Given the description of an element on the screen output the (x, y) to click on. 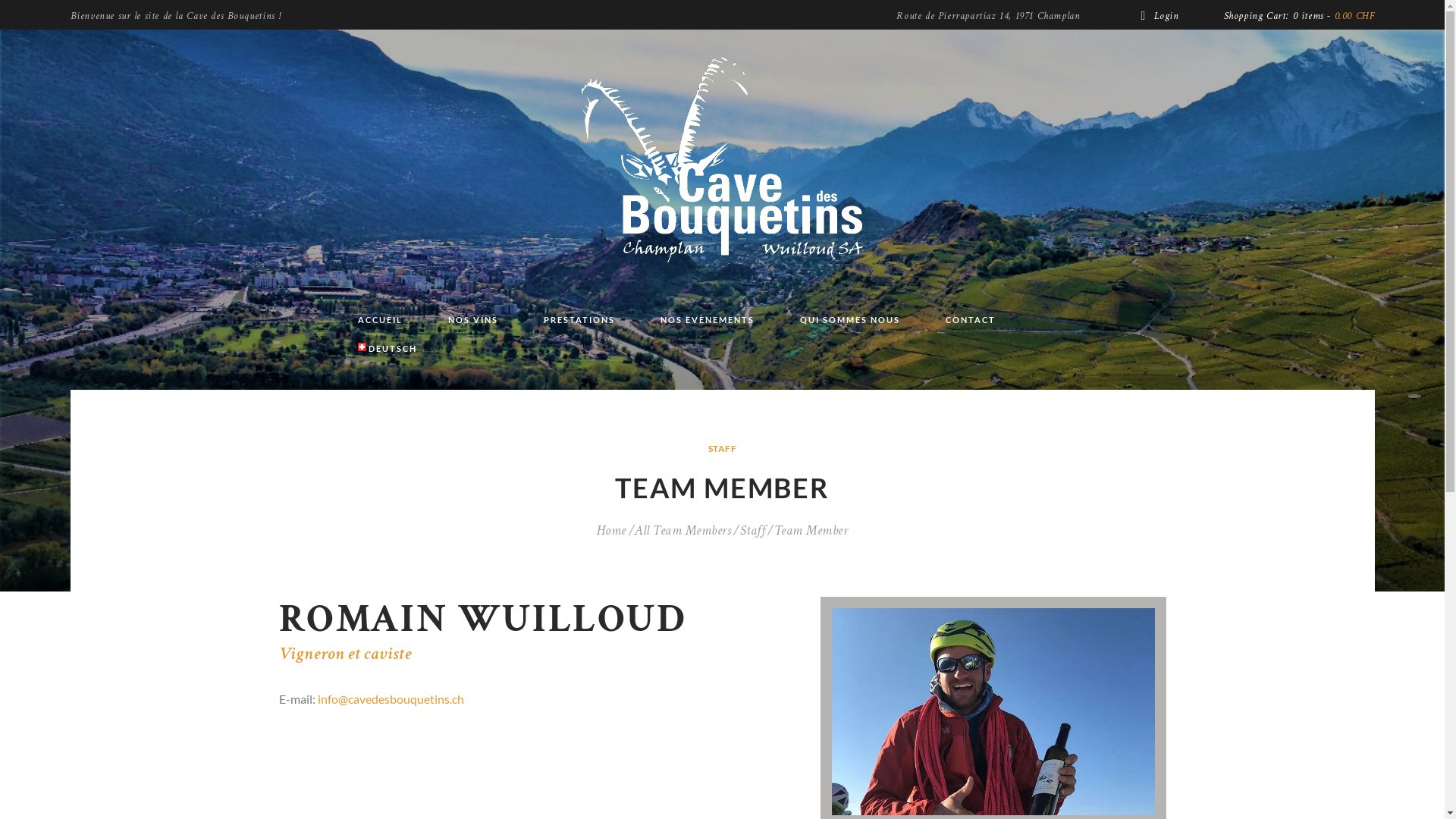
ACCUEIL Element type: text (380, 320)
Login Element type: text (1159, 15)
info@cavedesbouquetins.ch Element type: text (389, 698)
QUI SOMMES NOUS Element type: text (849, 320)
Home Element type: text (611, 530)
All Team Members Element type: text (682, 530)
DEUTSCH Element type: text (387, 349)
STAFF Element type: text (722, 448)
PRESTATIONS Element type: text (578, 320)
NOS VINS Element type: text (472, 320)
CONTACT Element type: text (969, 320)
Staff Element type: text (752, 530)
Shopping Cart: 0 items - 0.00 CHF Element type: text (1297, 15)
